Given the description of an element on the screen output the (x, y) to click on. 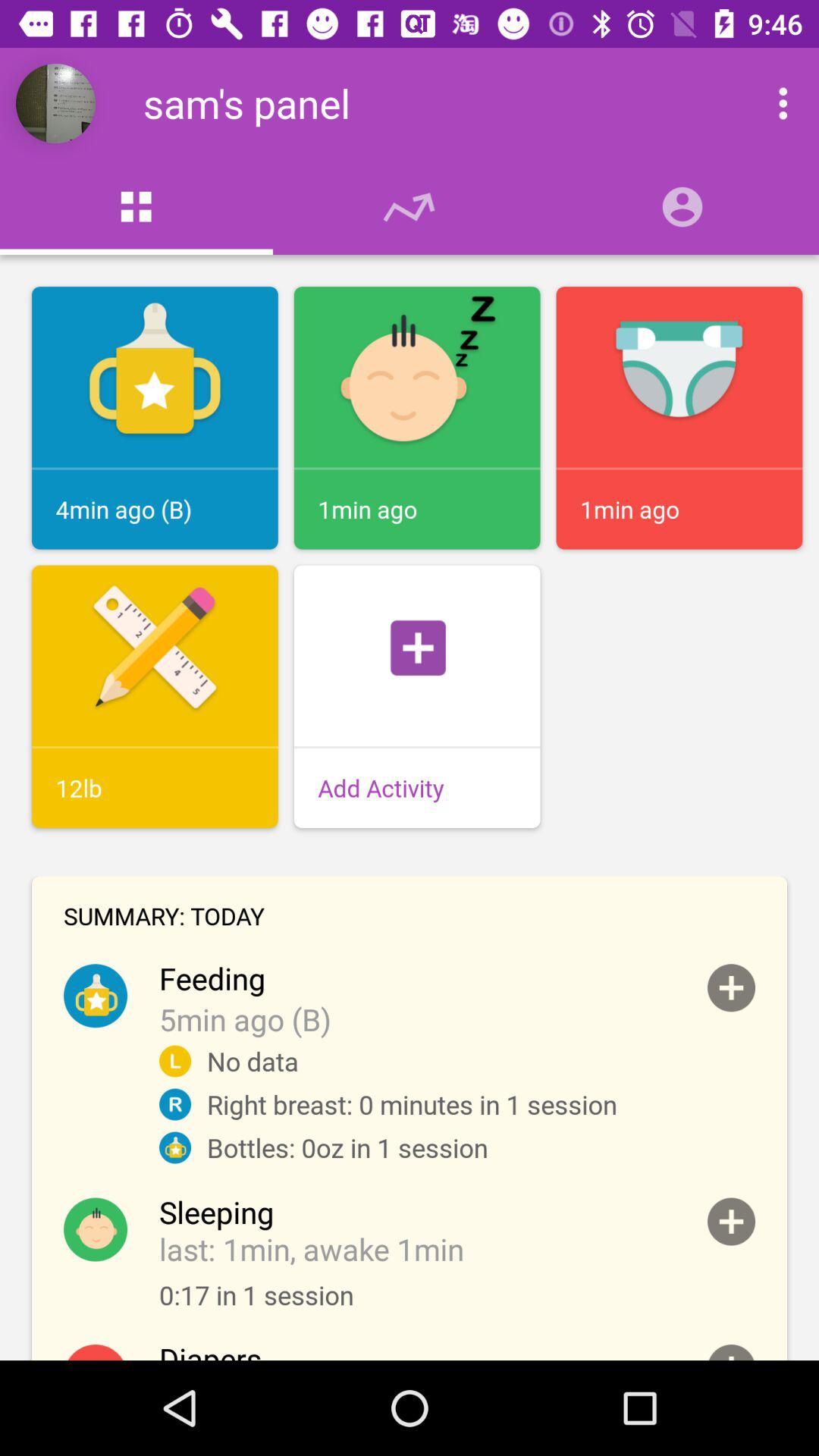
add status (731, 1352)
